Given the description of an element on the screen output the (x, y) to click on. 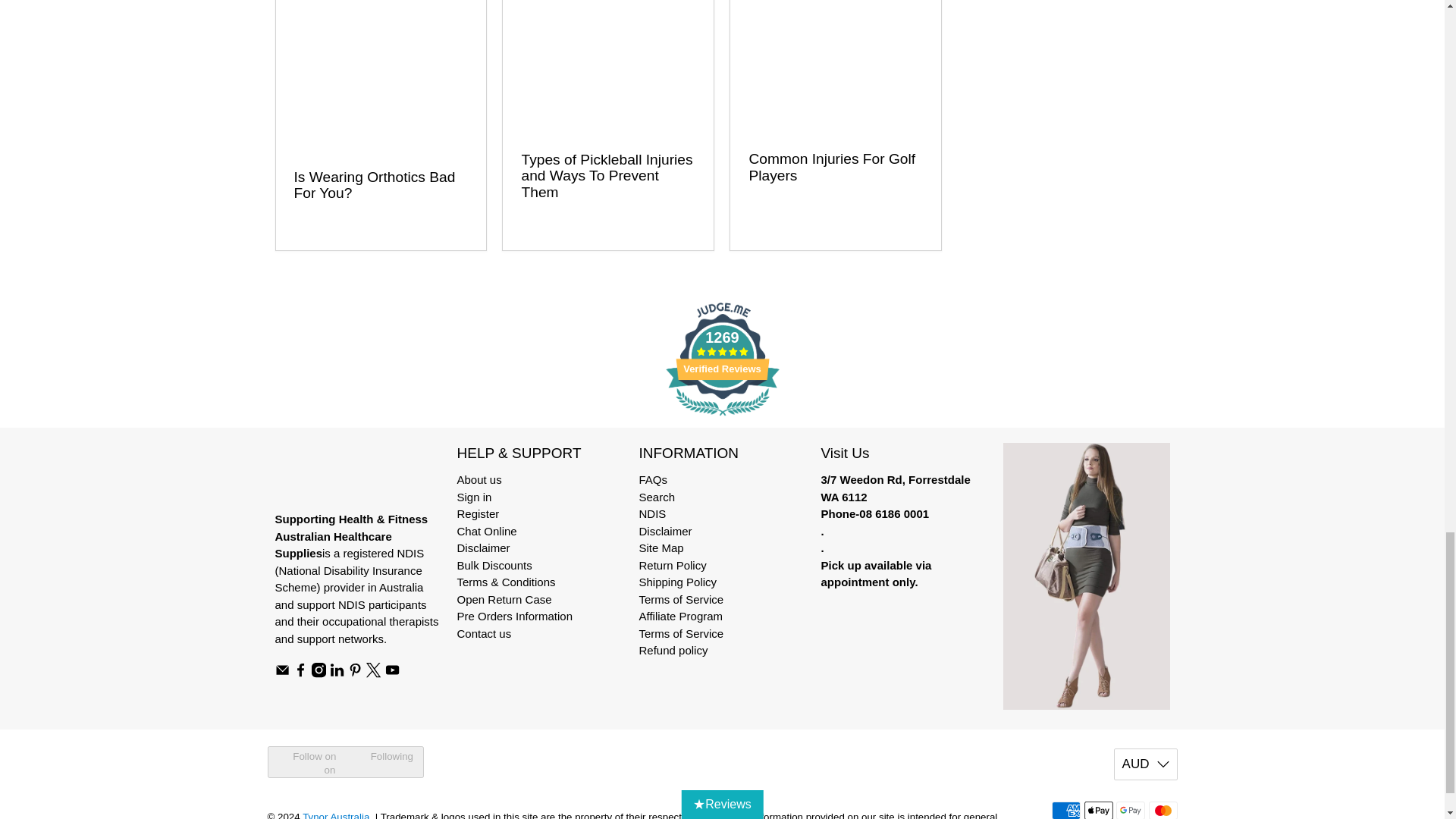
Common Injuries For Golf Players (831, 166)
Tynor Australia (341, 477)
Is Wearing Orthotics Bad For You? (381, 74)
Mastercard (1162, 810)
Google Pay (1130, 810)
American Express (1065, 810)
Registered NDIS Partner (349, 570)
Is Wearing Orthotics Bad For You? (374, 184)
Apple Pay (1098, 810)
Types of Pickleball Injuries and Ways To Prevent Them (607, 66)
Common Injuries For Golf Players (835, 66)
Types of Pickleball Injuries and Ways To Prevent Them (607, 175)
